Given the description of an element on the screen output the (x, y) to click on. 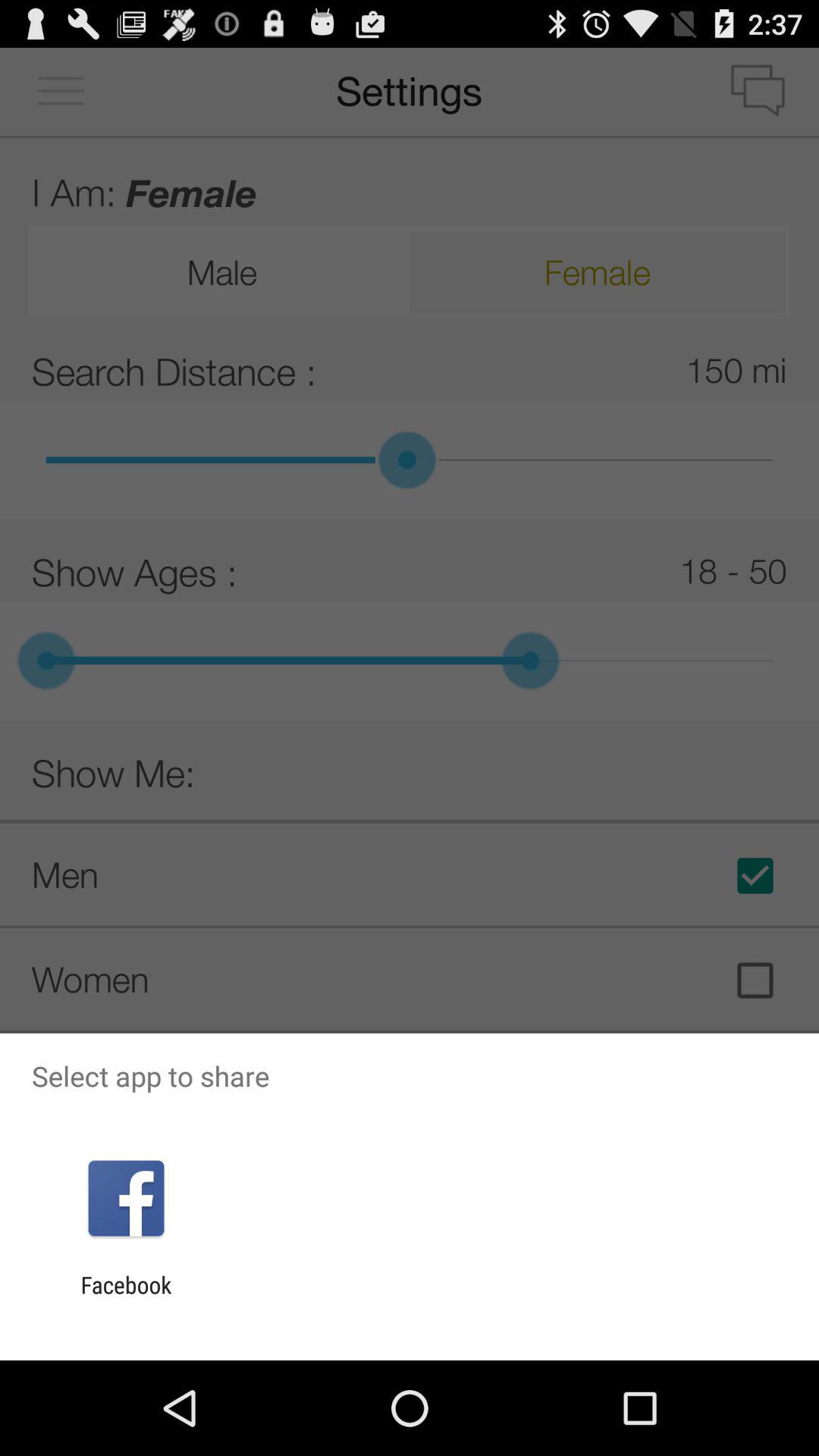
tap the icon below the select app to (126, 1198)
